Given the description of an element on the screen output the (x, y) to click on. 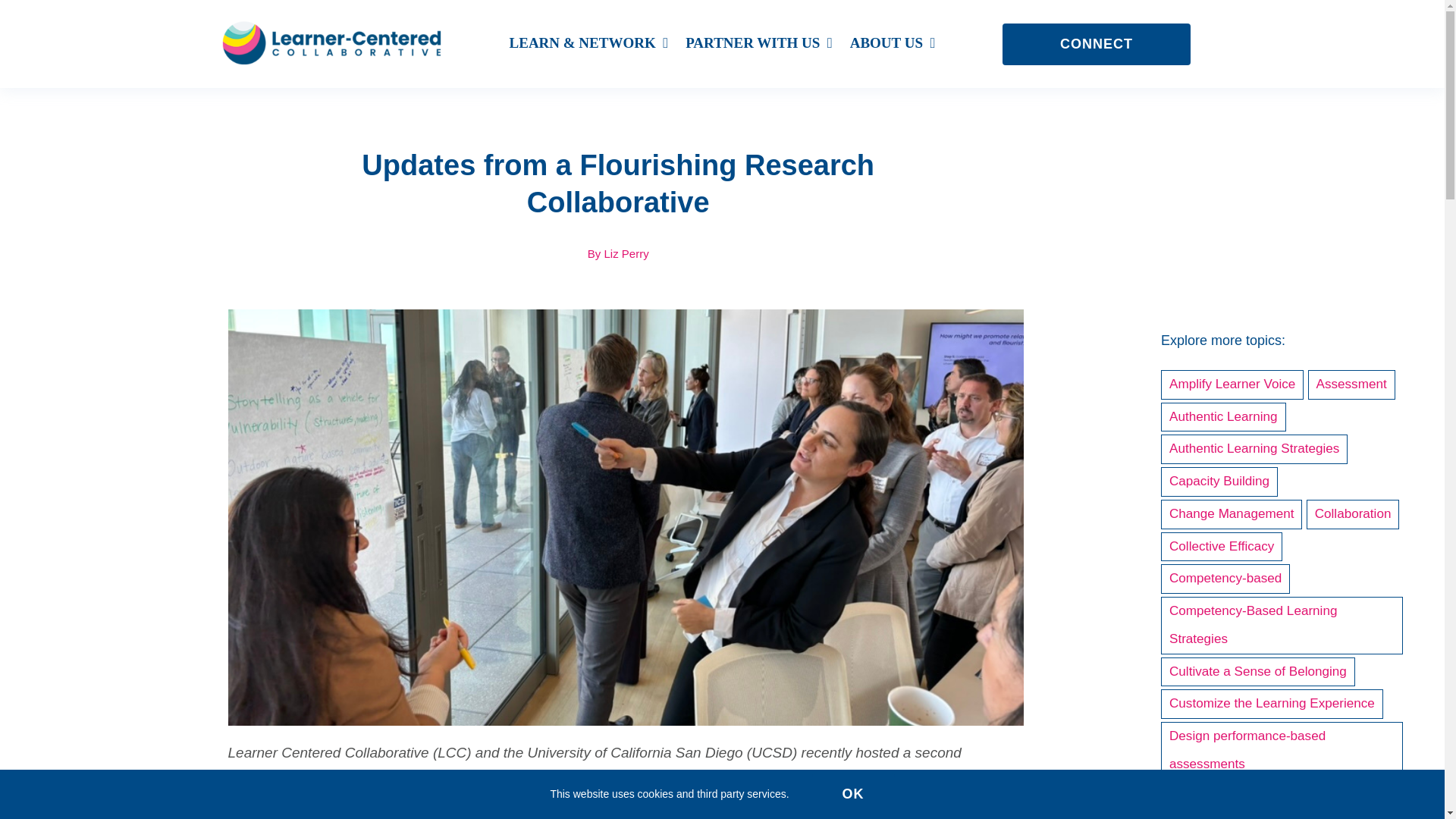
Liz Perry (625, 253)
PARTNER WITH US (758, 43)
Posts by Liz Perry (625, 253)
CONNECT (1097, 43)
ABOUT US (893, 43)
